Given the description of an element on the screen output the (x, y) to click on. 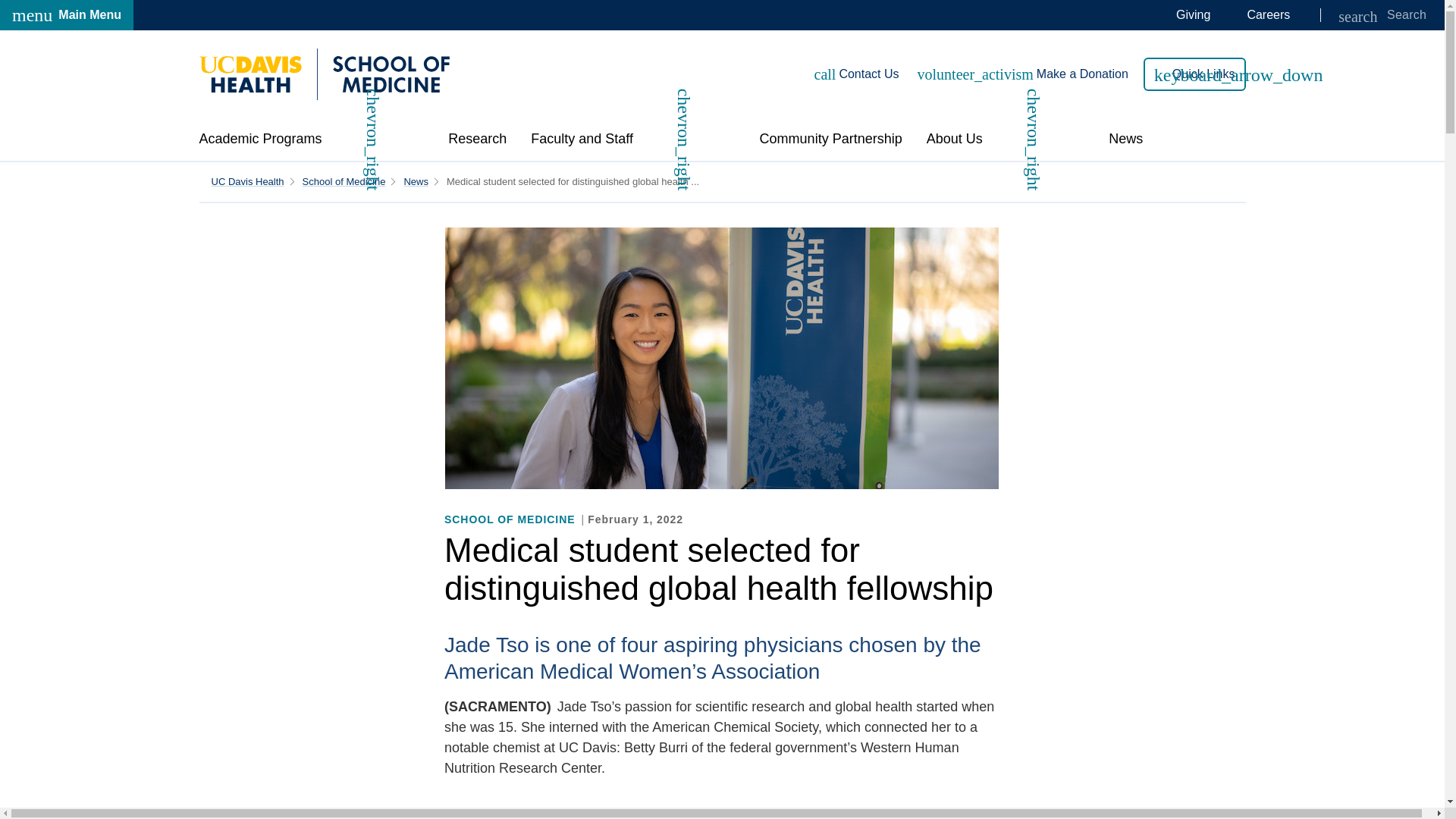
Research (477, 138)
Quick Links (1194, 73)
Giving (1192, 15)
UC Davis Health (247, 181)
School of Medicine (323, 73)
search Search (1382, 14)
callContact Us (856, 74)
Careers (66, 15)
School of Medicine (1267, 15)
News (343, 181)
